Given the description of an element on the screen output the (x, y) to click on. 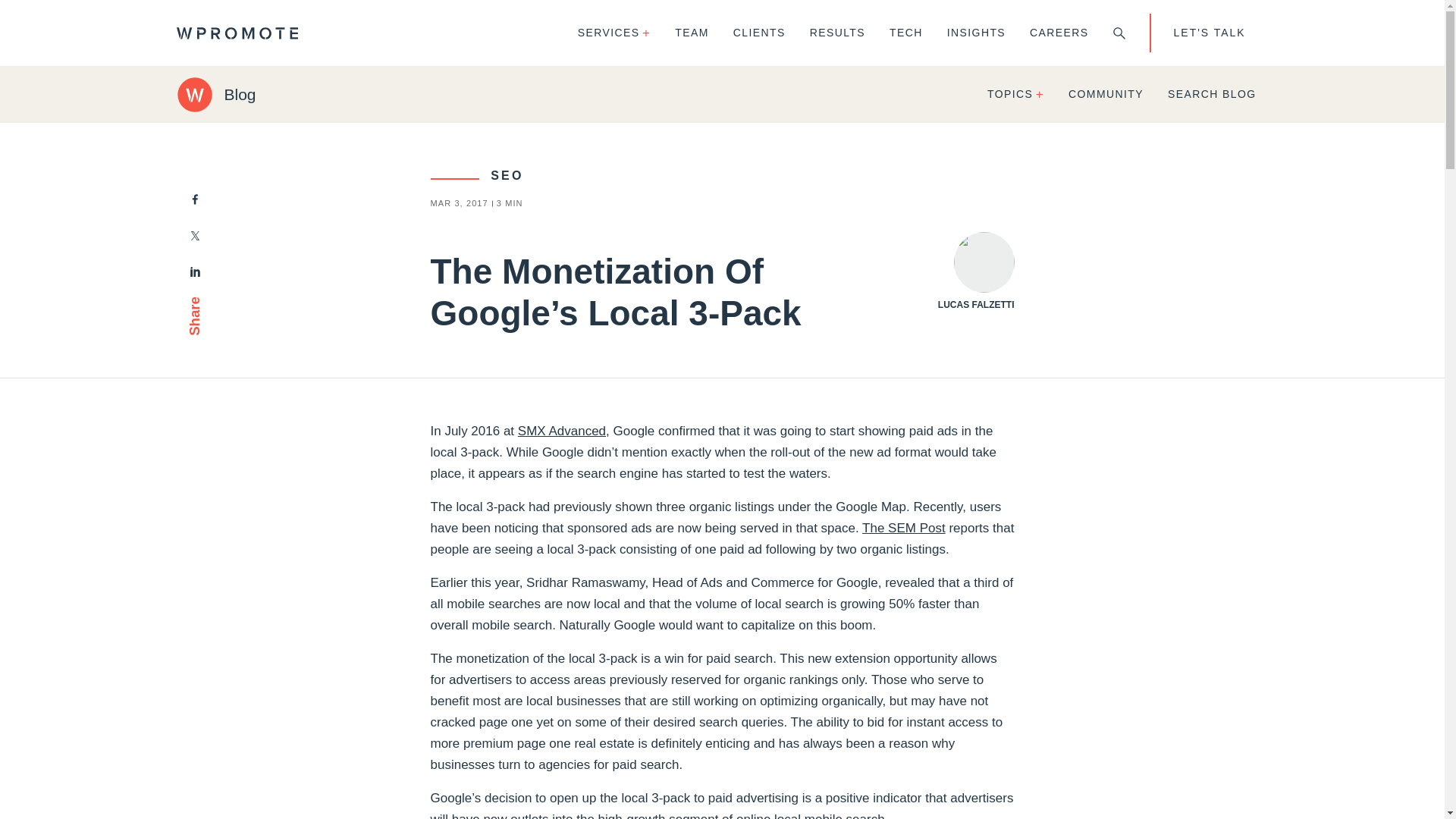
LUCAS FALZETTI (975, 271)
LET'S TALK (1209, 32)
SMX Advanced (561, 431)
COMMUNITY (1106, 93)
SEARCH BLOG (1212, 93)
CAREERS (1058, 33)
The SEM Post (902, 527)
TOPICS (1016, 93)
CLIENTS (758, 33)
TEAM (691, 33)
RESULTS (837, 33)
INSIGHTS (975, 33)
SERVICES (614, 33)
TECH (905, 33)
SEO (477, 174)
